Given the description of an element on the screen output the (x, y) to click on. 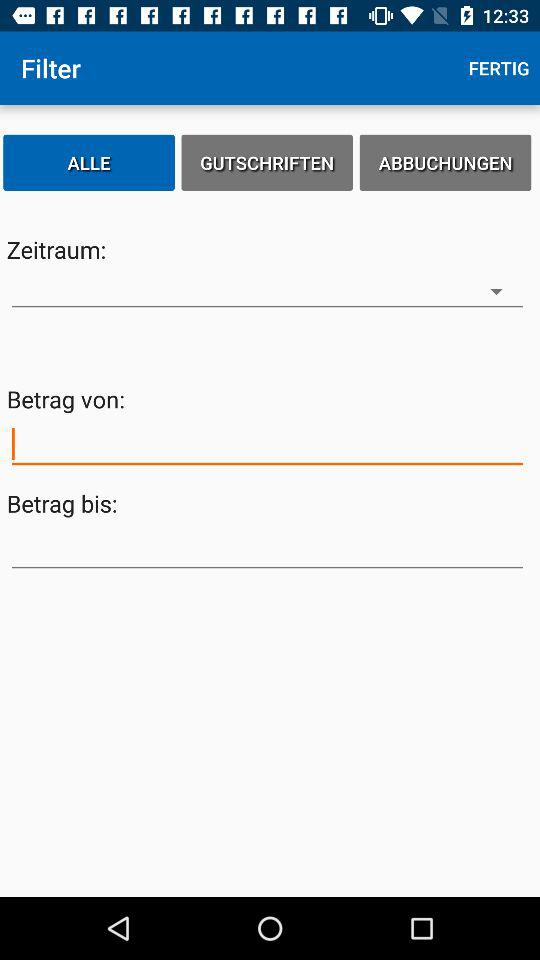
select the icon next to the gutschriften item (445, 162)
